Given the description of an element on the screen output the (x, y) to click on. 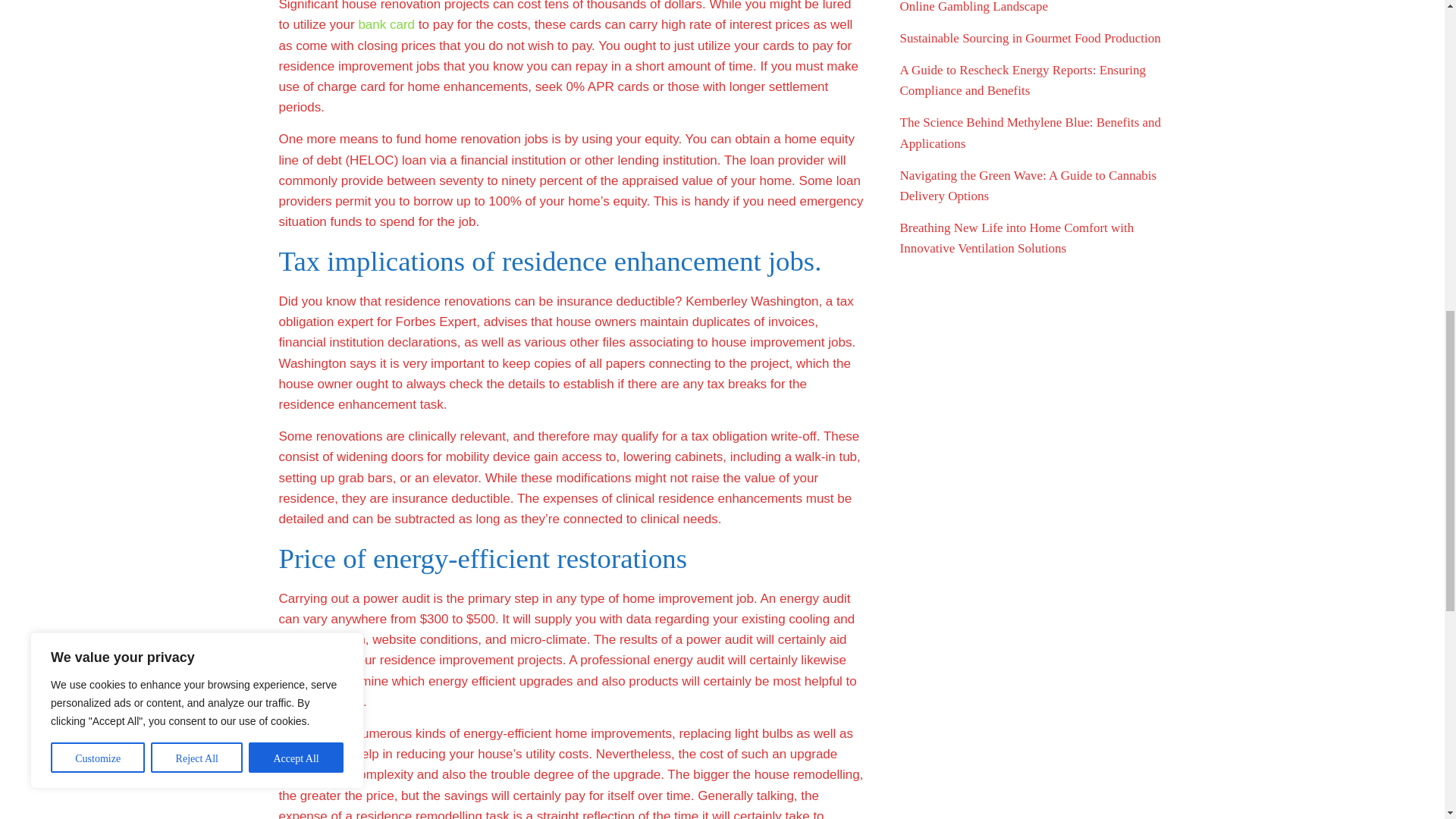
Sustainable Sourcing in Gourmet Food Production (1029, 38)
bank card (386, 24)
